Given the description of an element on the screen output the (x, y) to click on. 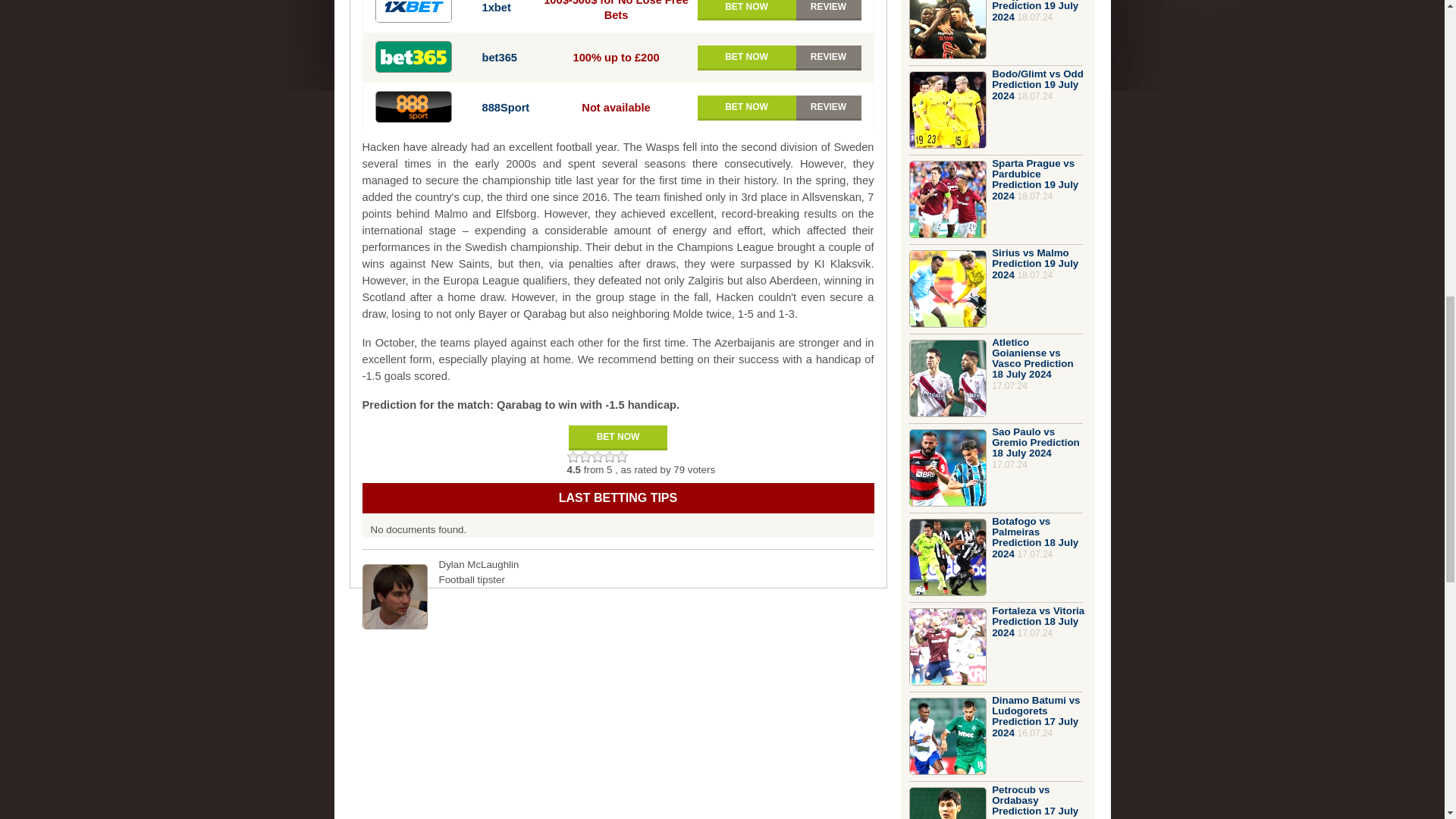
BET NOW (746, 57)
BET NOW (746, 10)
REVIEW (828, 10)
Sirius vs Malmo Prediction 19 July 2024 (1034, 263)
LAST BETTING TIPS (618, 498)
REVIEW (828, 107)
Sparta Prague vs Pardubice Prediction 19 July 2024 (1034, 179)
bet365 (498, 57)
BET NOW (617, 437)
888Sport (505, 107)
1xbet (496, 7)
BET NOW (746, 107)
Football betting tips (618, 498)
REVIEW (828, 57)
Aarhus vs Midtjylland Prediction 19 July 2024 (1034, 11)
